Given the description of an element on the screen output the (x, y) to click on. 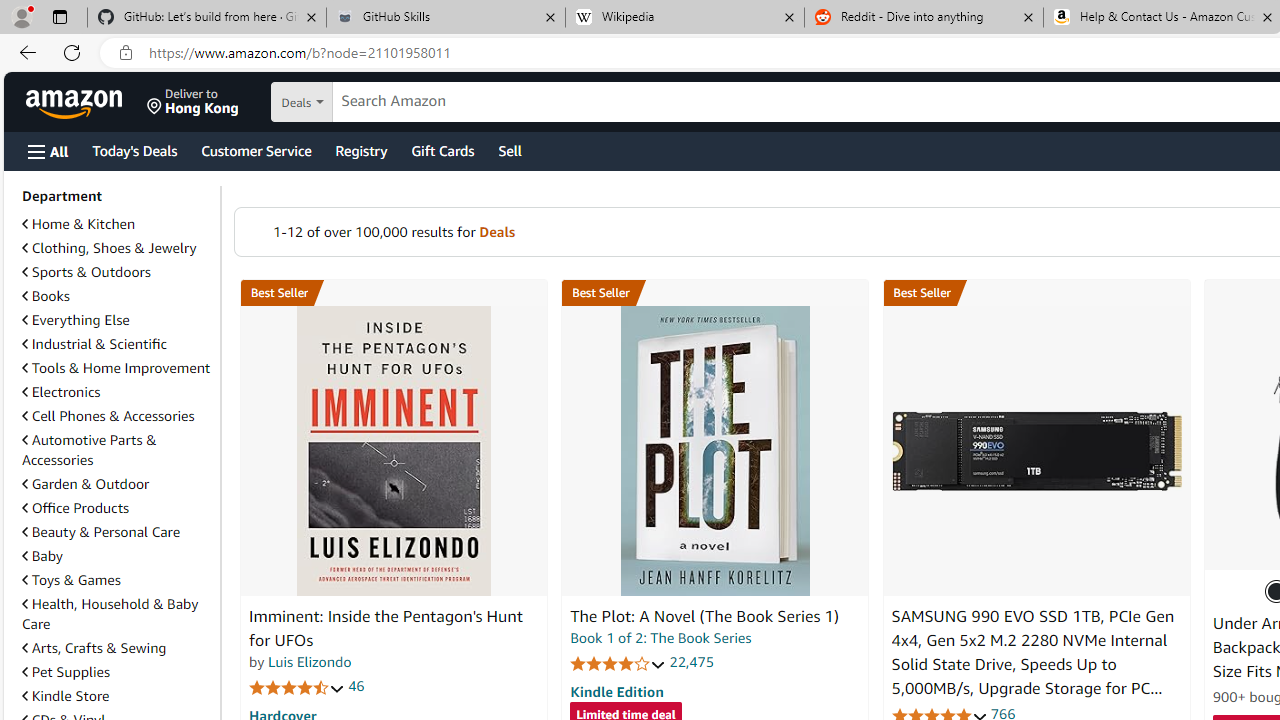
Sports & Outdoors (86, 271)
Tools & Home Improvement (117, 367)
Baby (117, 555)
Book 1 of 2: The Book Series (660, 638)
Arts, Crafts & Sewing (93, 647)
Beauty & Personal Care (100, 531)
Imminent: Inside the Pentagon's Hunt for UFOs (393, 451)
Kindle Store (65, 695)
Reddit - Dive into anything (924, 17)
Health, Household & Baby Care (109, 613)
Search in (371, 102)
Books (117, 295)
Open Menu (48, 151)
Luis Elizondo (309, 662)
